Given the description of an element on the screen output the (x, y) to click on. 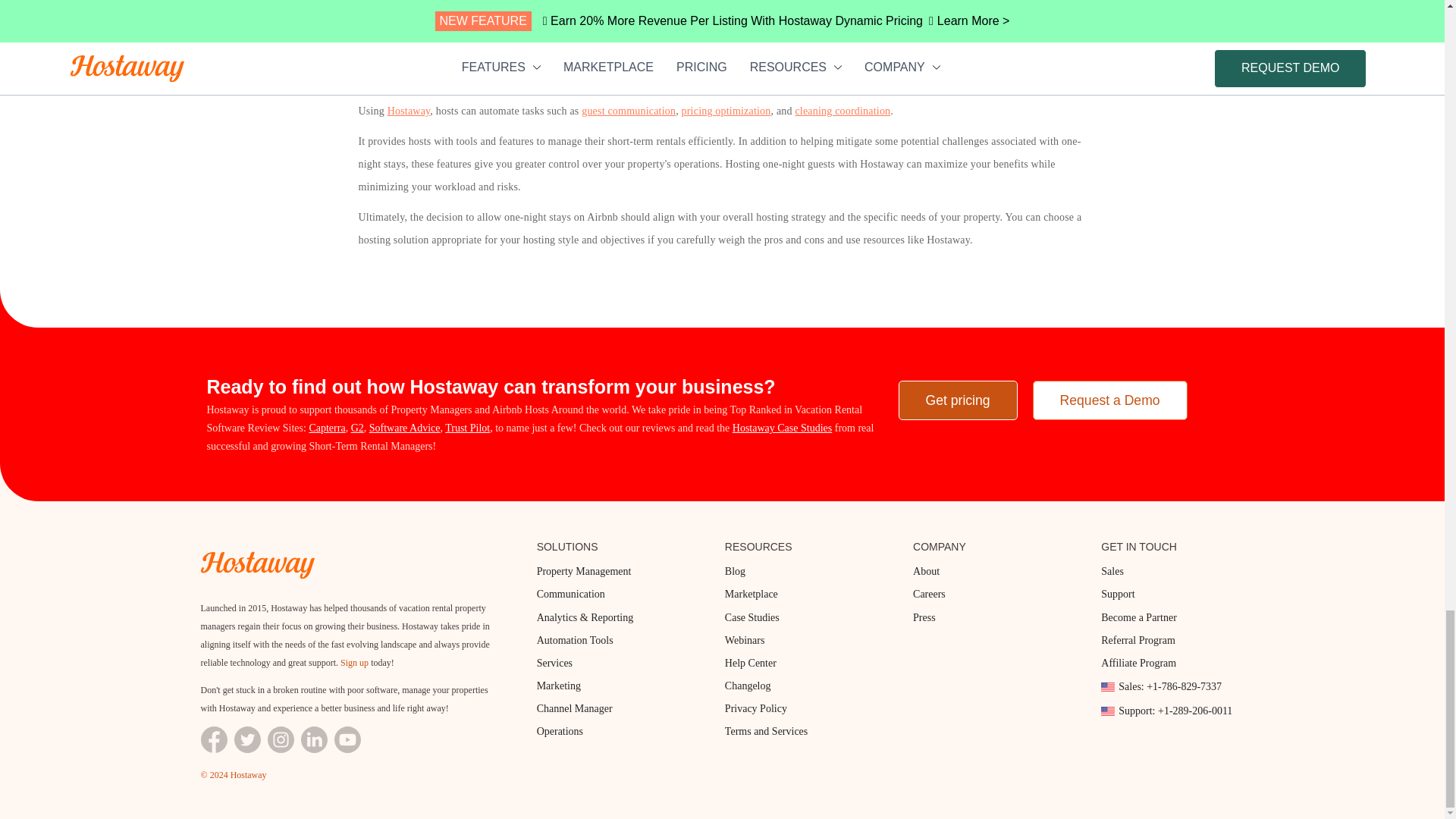
Hostaway Case Studies (781, 428)
Sign up (354, 662)
Trust Pilot (467, 428)
Capterra (326, 428)
G2 (357, 428)
pricing optimization (726, 111)
Hostaway (408, 111)
cleaning coordination (841, 111)
guest communication (627, 111)
Software Advice (405, 428)
